Given the description of an element on the screen output the (x, y) to click on. 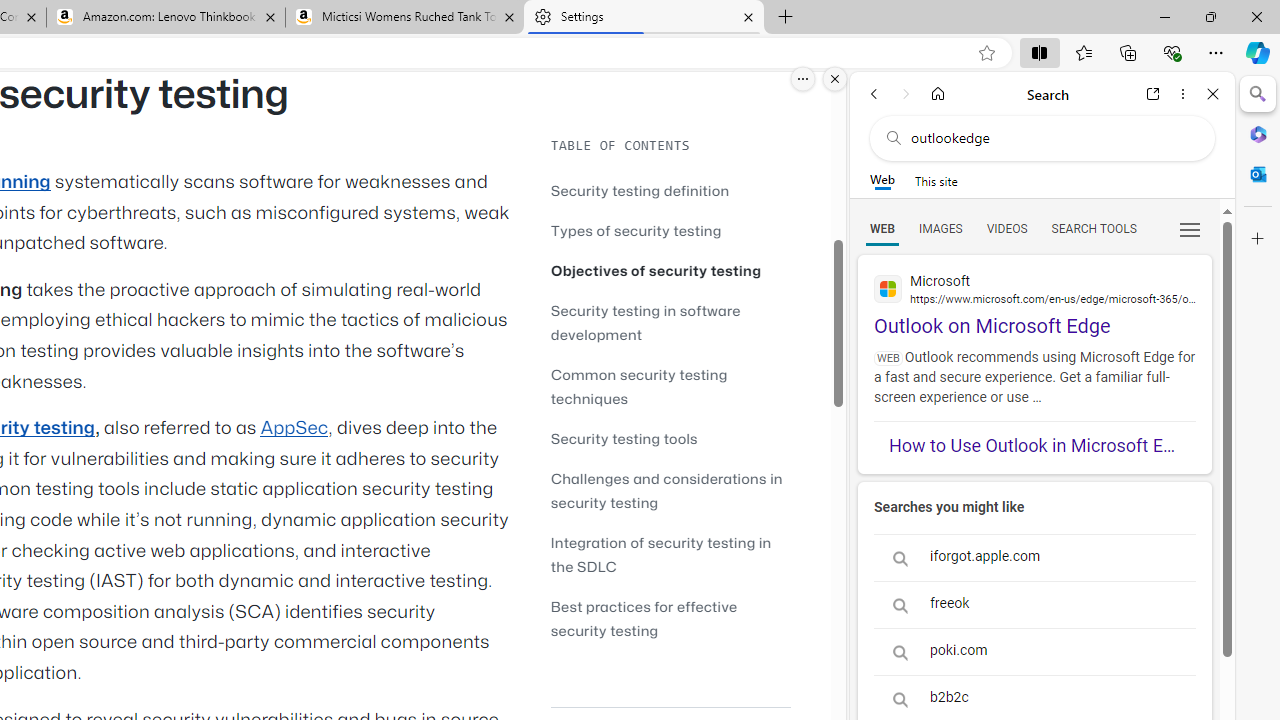
poki.com (1034, 652)
Objectives of security testing (655, 270)
Integration of security testing in the SDLC (660, 554)
AppSec (293, 428)
Security testing definition (639, 190)
Challenges and considerations in security testing (666, 490)
iforgot.apple.com (1034, 557)
